Given the description of an element on the screen output the (x, y) to click on. 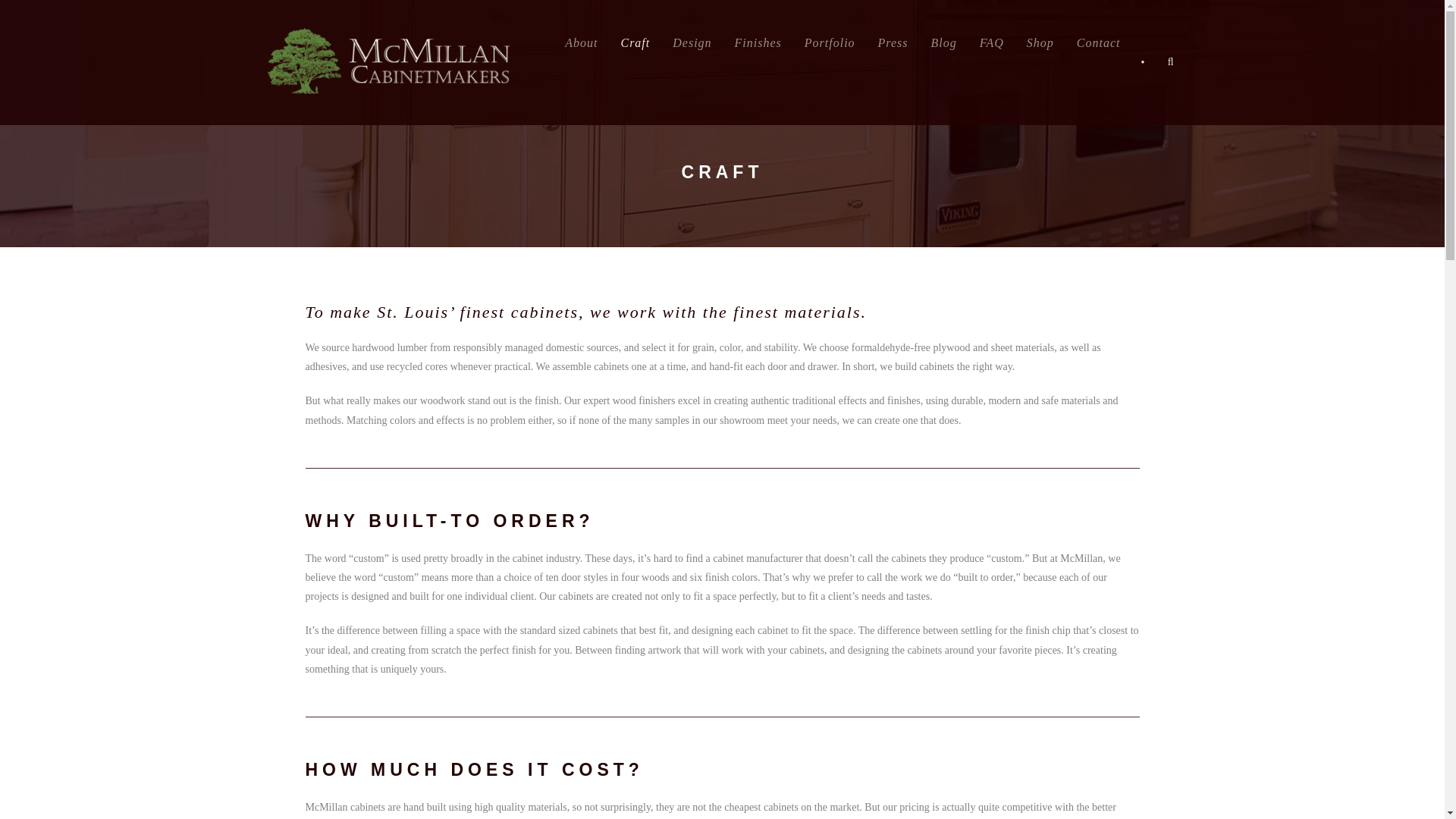
Finishes (758, 44)
Blog (943, 44)
FAQ (991, 44)
Design (691, 44)
Portfolio (830, 44)
Contact (1099, 44)
Craft (634, 44)
Press (892, 44)
Shop (1040, 44)
About (580, 44)
